Given the description of an element on the screen output the (x, y) to click on. 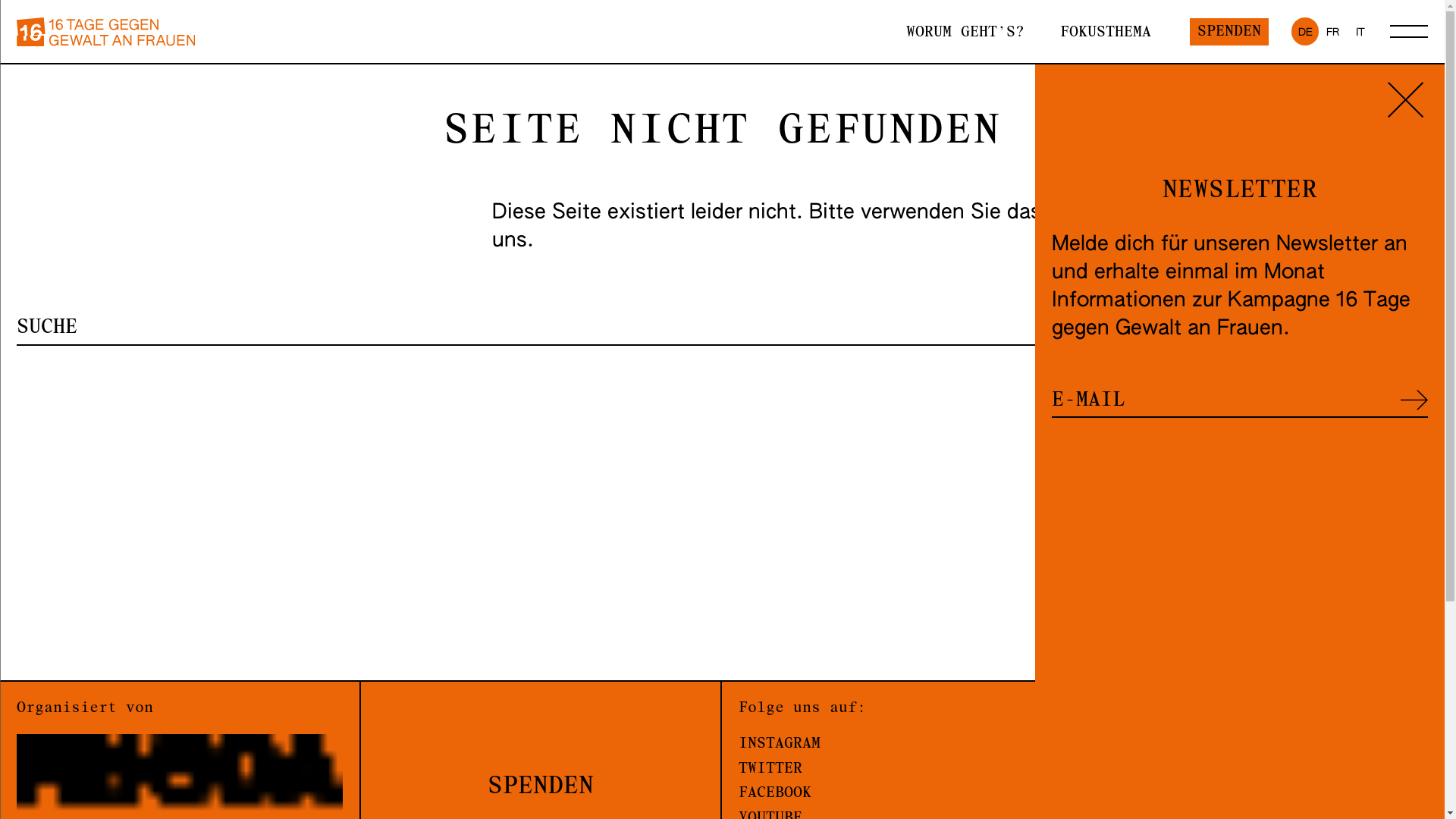
FACEBOOK Element type: text (901, 793)
FR Element type: text (1332, 30)
Anmelden Element type: text (1413, 399)
MEDIEN Element type: text (1263, 781)
FOKUSTHEMA Element type: text (1105, 31)
INSTAGRAM Element type: text (901, 744)
MEHR ZUR KOORDINATORIN Element type: text (1263, 708)
TWITTER Element type: text (901, 769)
IT Element type: text (1360, 30)
Suchen Element type: text (1413, 327)
KONTAKTINFORMATIONEN Element type: text (1263, 807)
DE Element type: text (1304, 30)
INFOS ZUM FOKUSTHEMA 2023 Element type: text (1263, 757)
SPENDEN Element type: text (1228, 31)
